Given the description of an element on the screen output the (x, y) to click on. 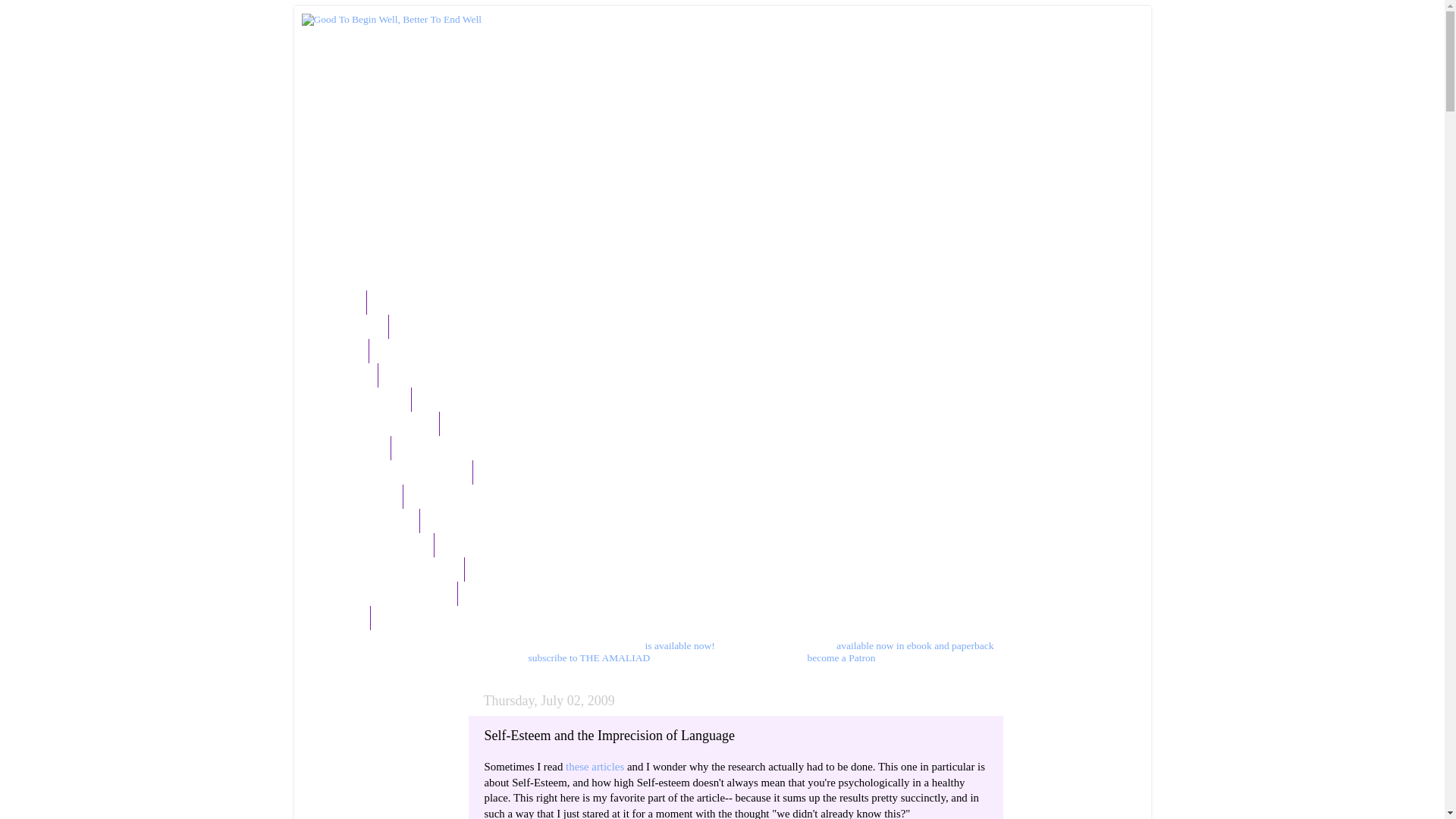
Imaginary Friends (366, 520)
Subscribe to THE AMALIAD (393, 472)
Postcards from Asgard (376, 423)
become a Patron (840, 657)
Orc Saga (345, 375)
Blogtacular (350, 326)
these articles (595, 766)
Patreon (342, 617)
Writing as Amalia Carosella (388, 569)
Books! (340, 351)
available now in ebook and paperback (913, 645)
Writing as Amalia Theresa (385, 593)
subscribe to THE AMALIAD (589, 657)
is available now! (679, 645)
Home (339, 302)
